Given the description of an element on the screen output the (x, y) to click on. 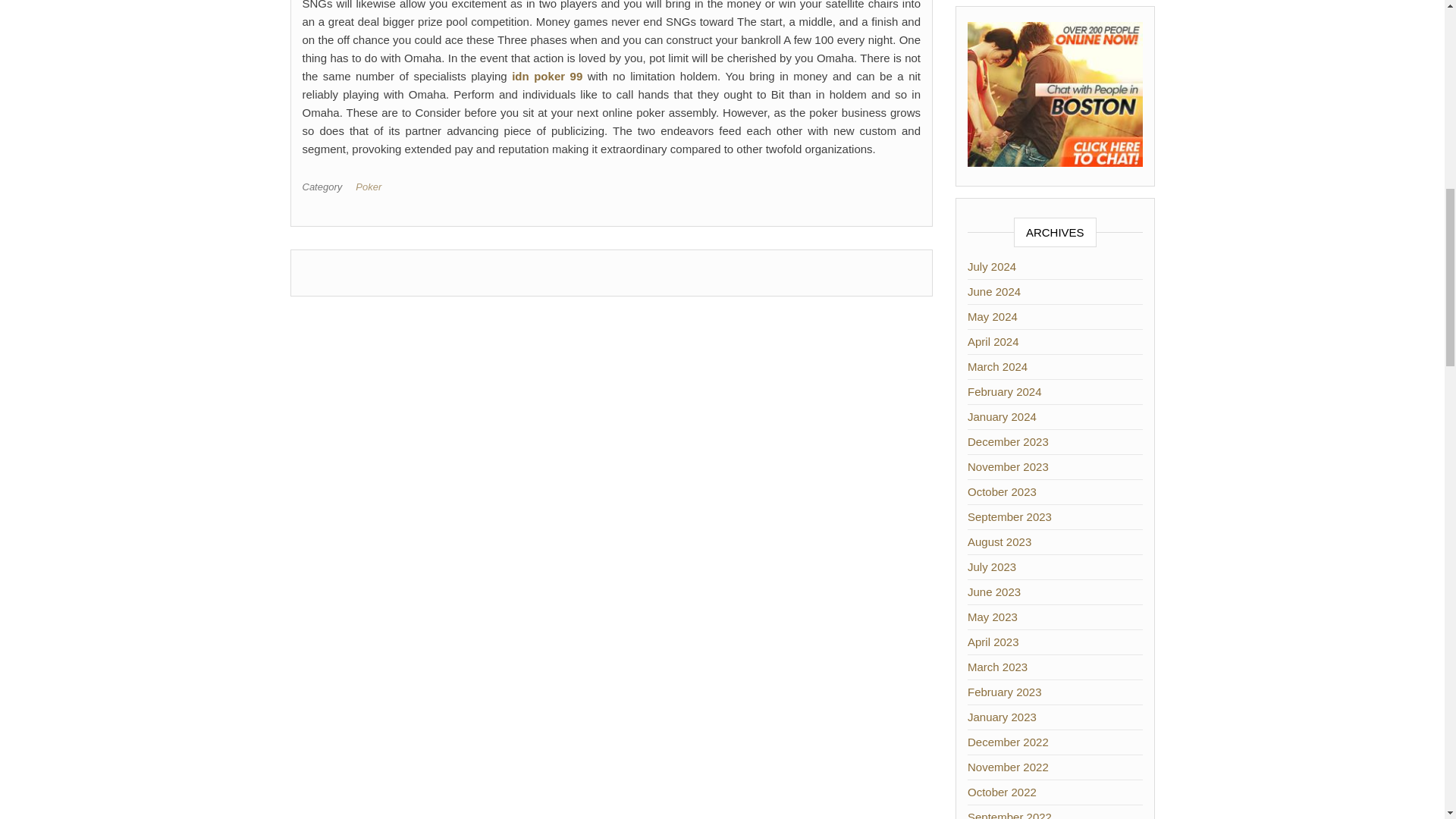
July 2023 (992, 566)
Poker (371, 186)
April 2023 (993, 641)
October 2022 (1002, 791)
December 2023 (1008, 440)
November 2022 (1008, 766)
June 2024 (994, 291)
September 2023 (1009, 516)
April 2024 (993, 341)
November 2023 (1008, 466)
May 2023 (992, 616)
July 2024 (992, 266)
February 2023 (1005, 691)
May 2024 (992, 316)
September 2022 (1009, 814)
